Given the description of an element on the screen output the (x, y) to click on. 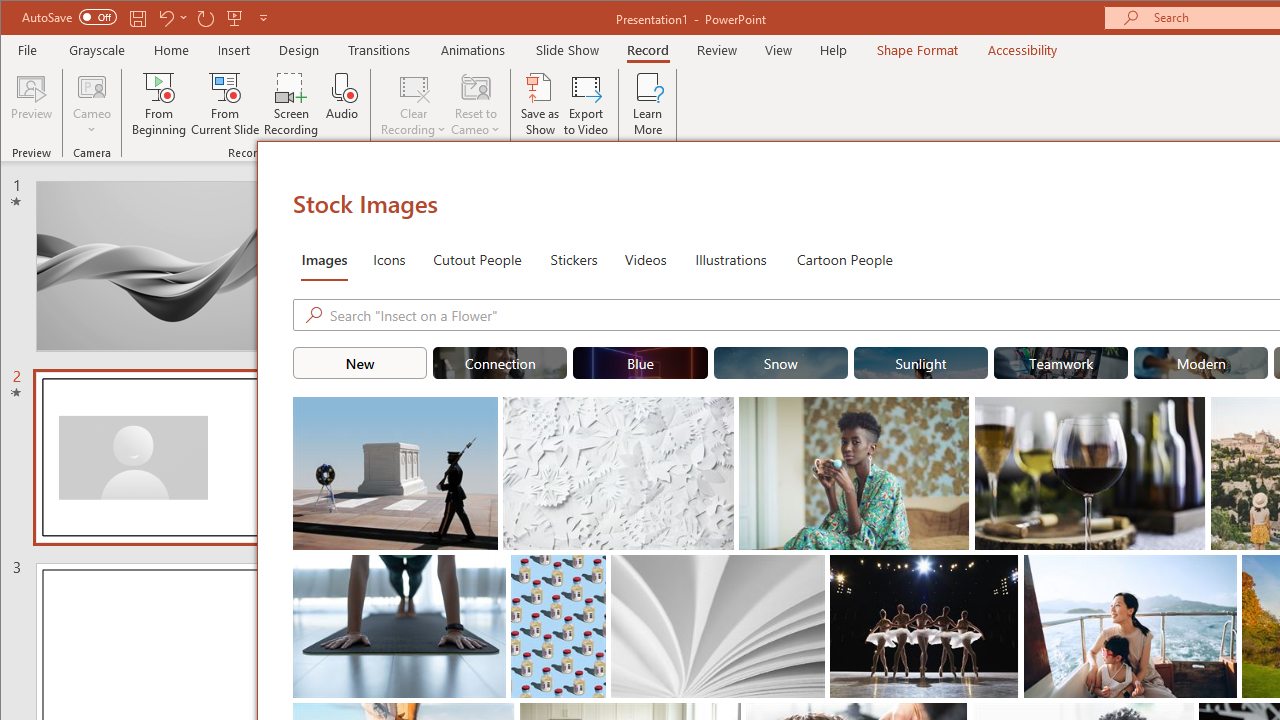
Icons (388, 258)
"New" Stock Images. (360, 362)
"Teamwork" Stock Images. (1060, 362)
Thumbnail (1221, 569)
Stickers (574, 258)
"Connection" Stock Images. (499, 362)
